Given the description of an element on the screen output the (x, y) to click on. 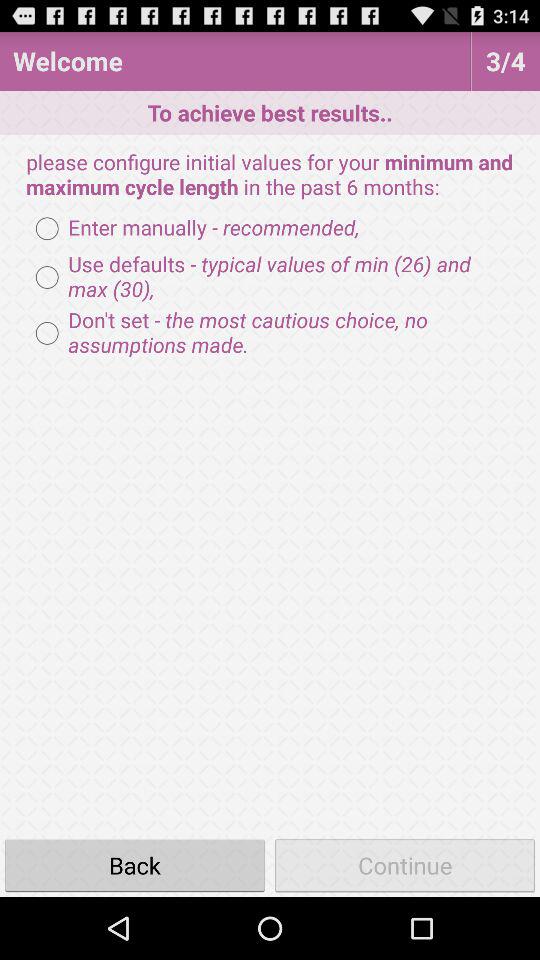
click icon above don t set (269, 277)
